Given the description of an element on the screen output the (x, y) to click on. 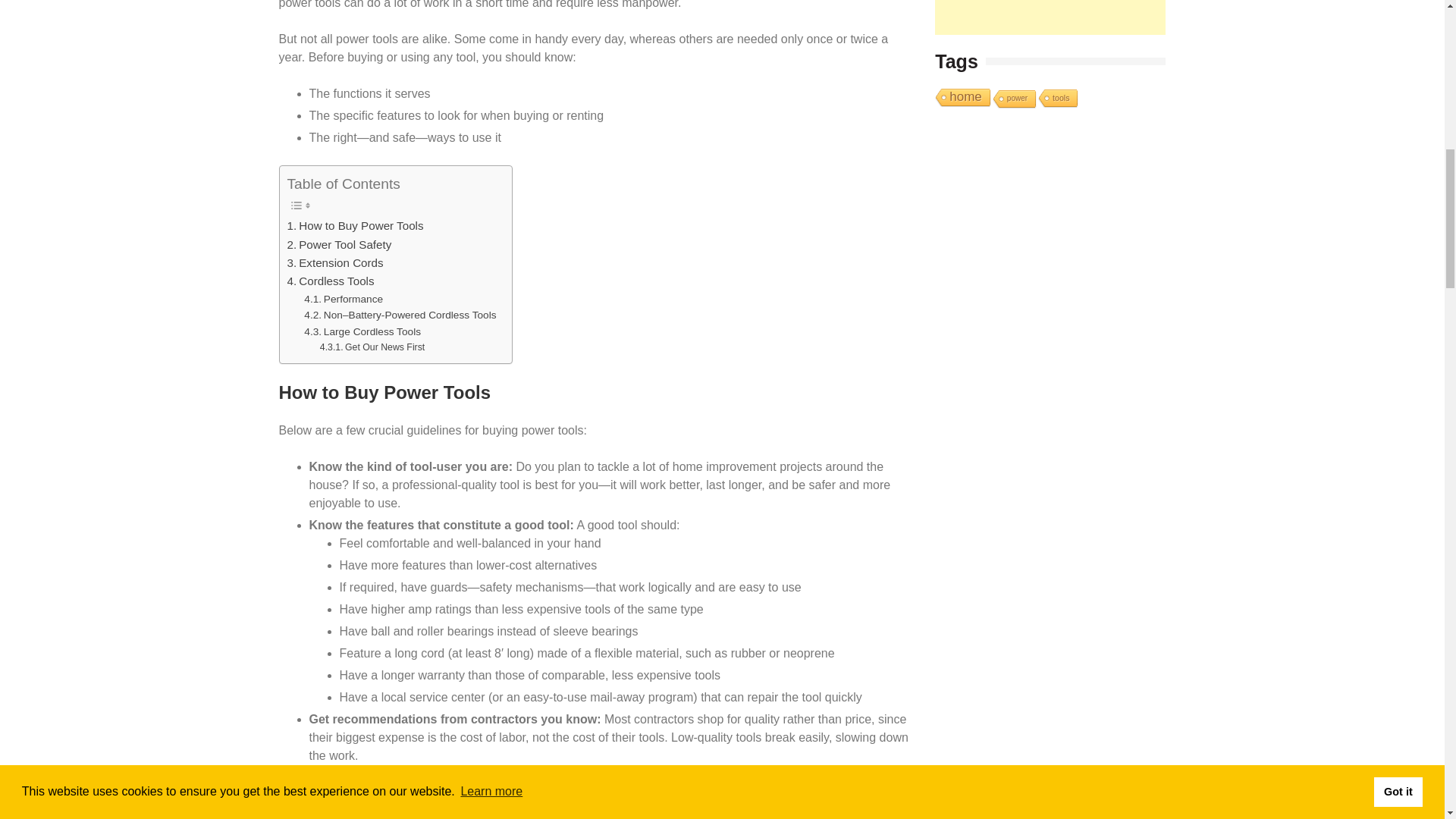
Extension Cords (334, 262)
Power Tool Safety (338, 244)
Performance (343, 299)
How to Buy Power Tools (354, 226)
Get Our News First (372, 347)
Get Our News First (372, 347)
Power Tool Safety (338, 244)
Cordless Tools (330, 280)
Advertisement (1050, 17)
Large Cordless Tools (362, 331)
Cordless Tools (330, 280)
Performance (343, 299)
Extension Cords (334, 262)
Large Cordless Tools (362, 331)
How to Buy Power Tools (354, 226)
